Given the description of an element on the screen output the (x, y) to click on. 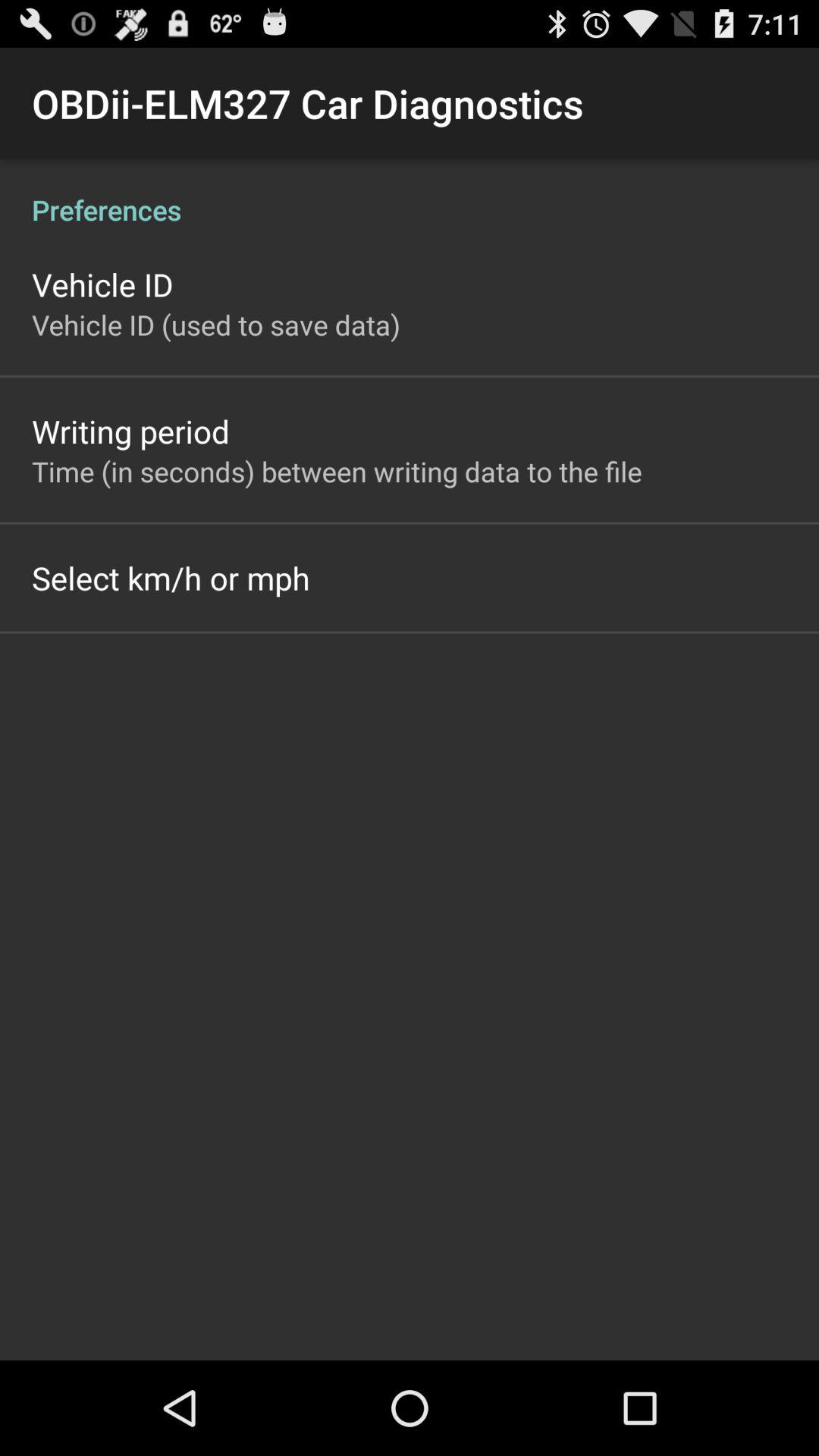
select the icon above select km h (336, 471)
